Given the description of an element on the screen output the (x, y) to click on. 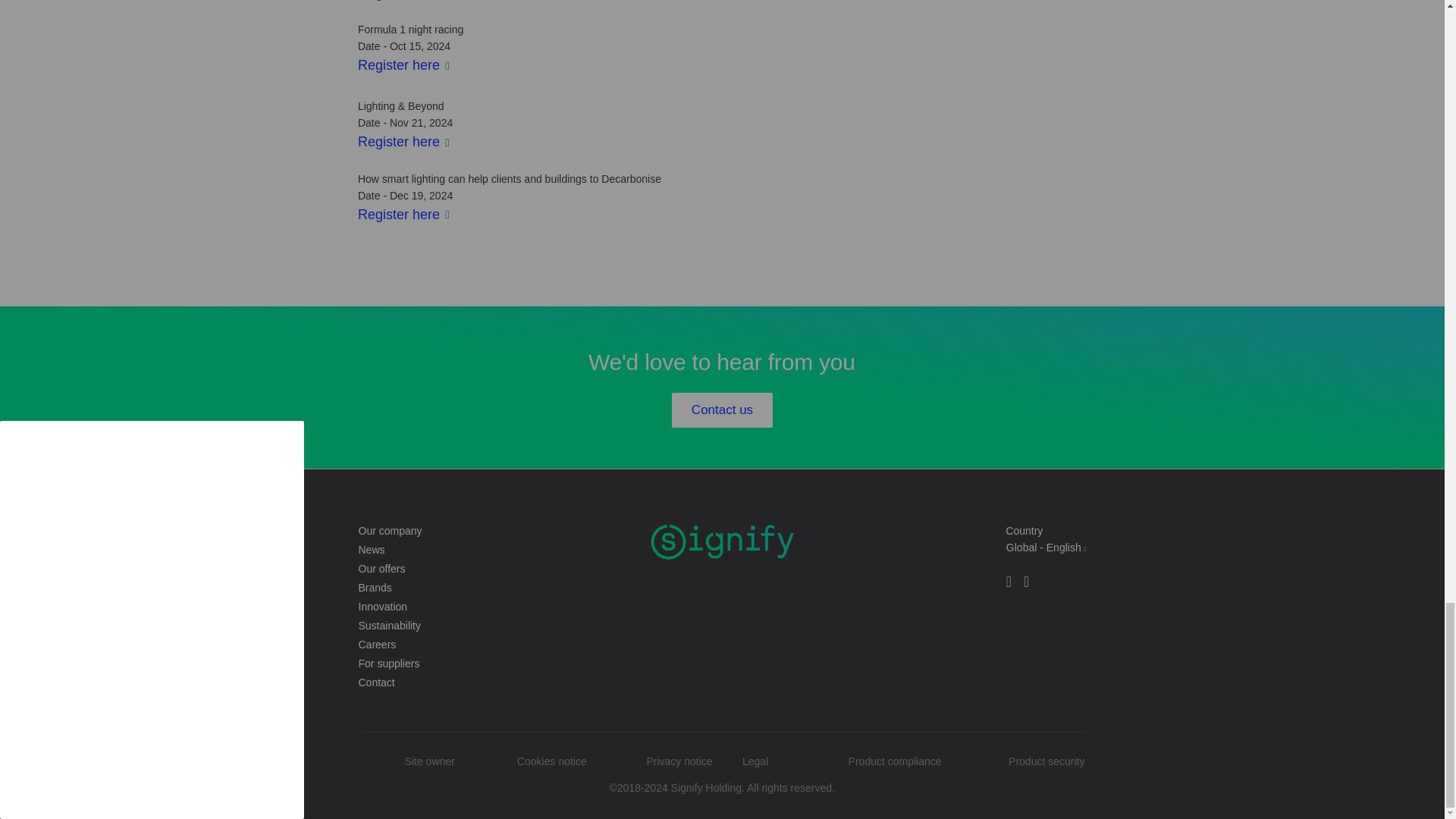
Contact (500, 683)
News (500, 550)
Contact us (722, 410)
Careers (500, 645)
Innovation (500, 607)
Sustainability (500, 626)
Contact us (722, 410)
Register here (403, 215)
Register here (398, 141)
Register here (398, 64)
